Given the description of an element on the screen output the (x, y) to click on. 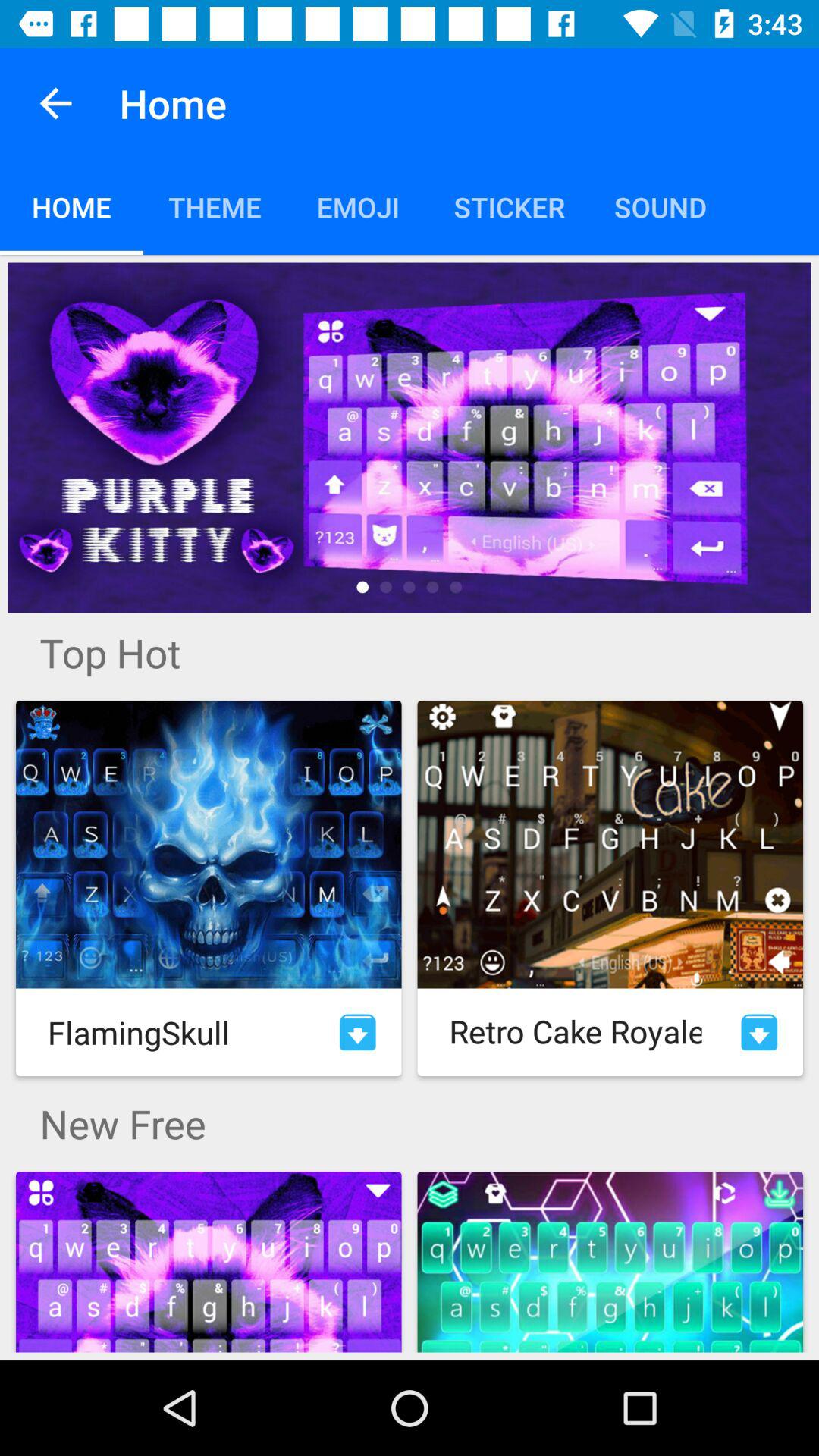
go top keyboard themes (409, 437)
